Given the description of an element on the screen output the (x, y) to click on. 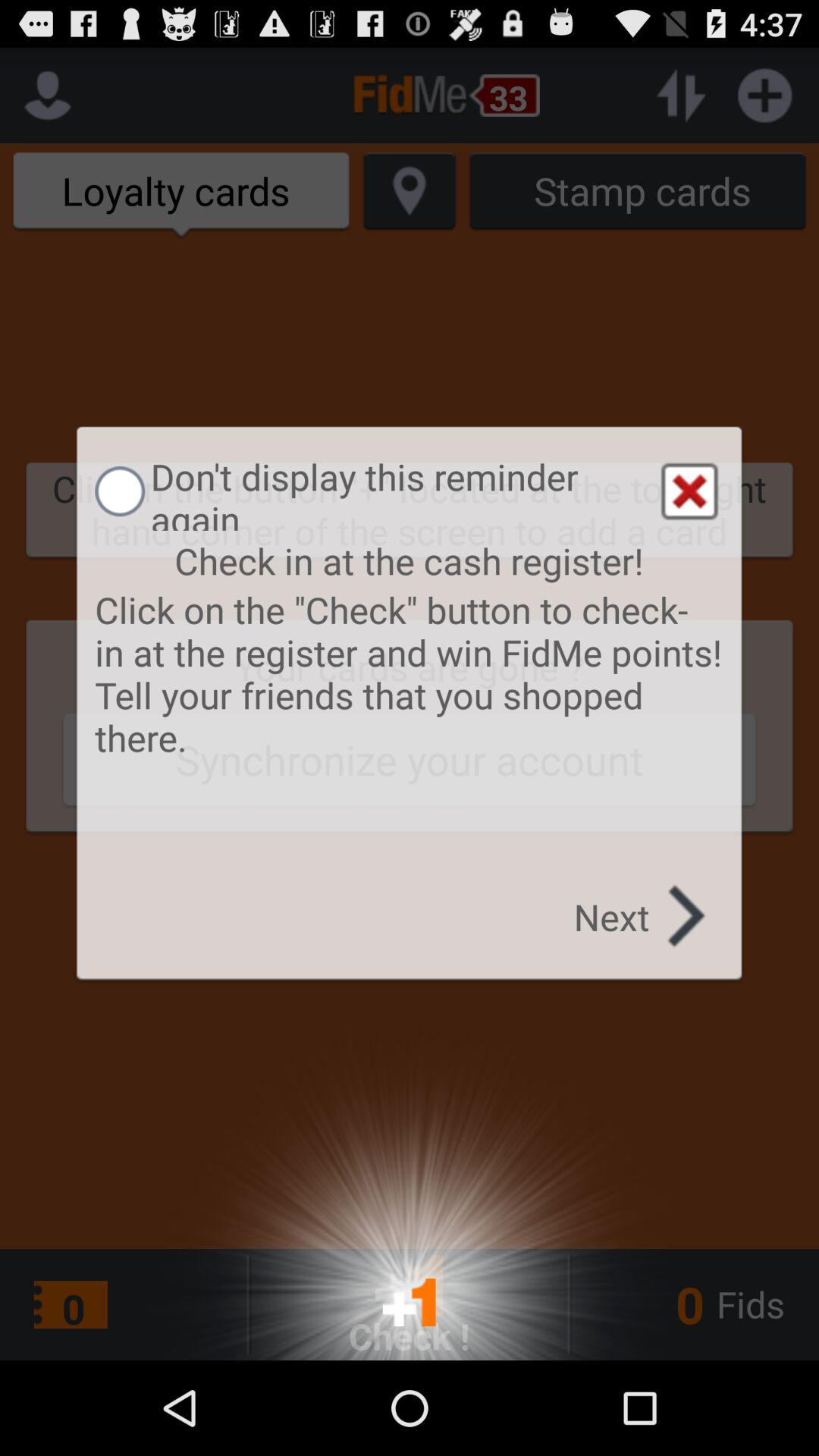
open icon next to don t display (689, 491)
